Given the description of an element on the screen output the (x, y) to click on. 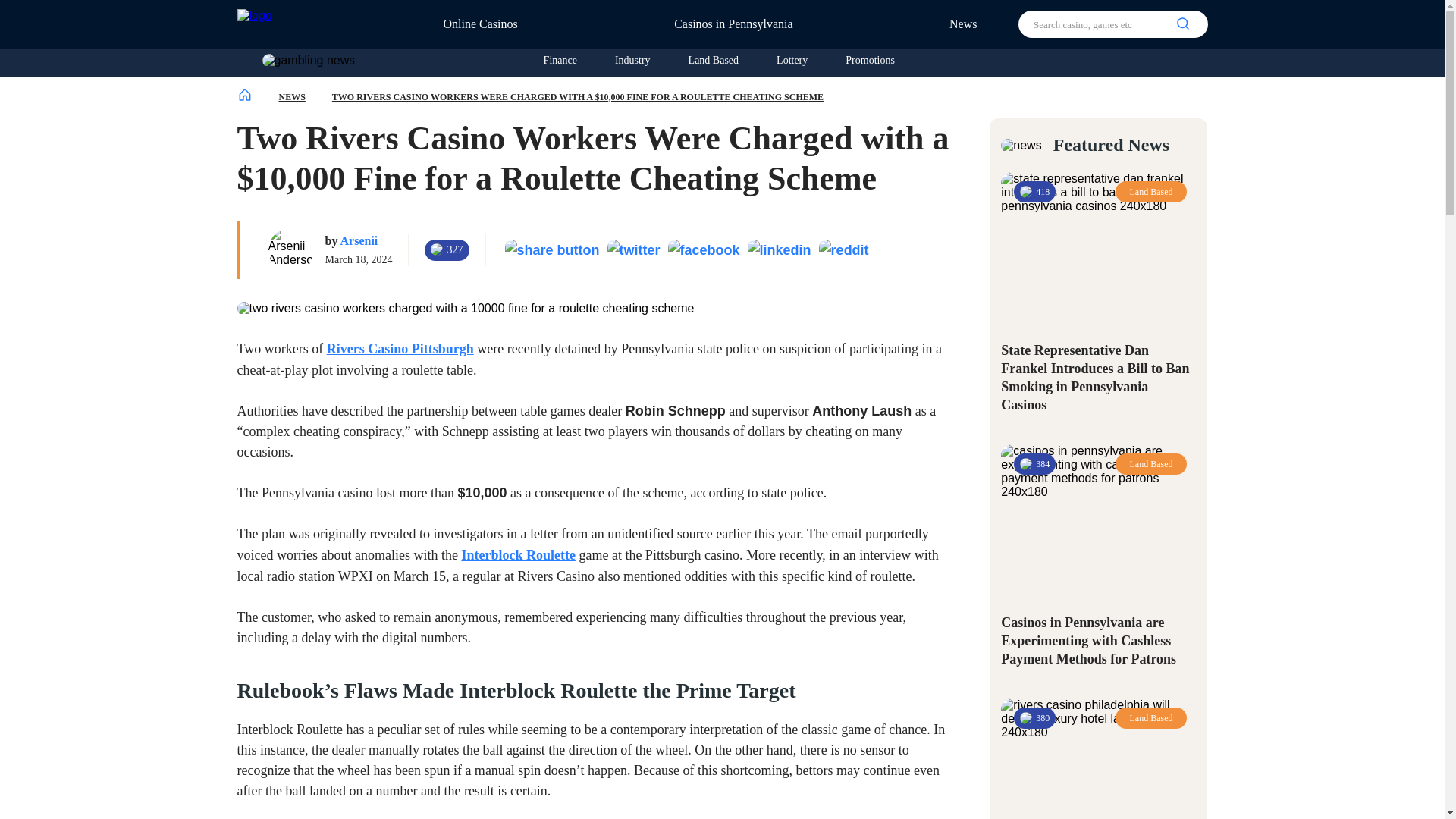
Arsenii (359, 240)
Lottery (792, 60)
Casinos in Pennsylvania (739, 23)
News (962, 23)
Finance (559, 60)
by Arsenii (359, 240)
Industry (632, 60)
NEWS (292, 96)
Land Based (713, 60)
Online Casinos (485, 23)
